Given the description of an element on the screen output the (x, y) to click on. 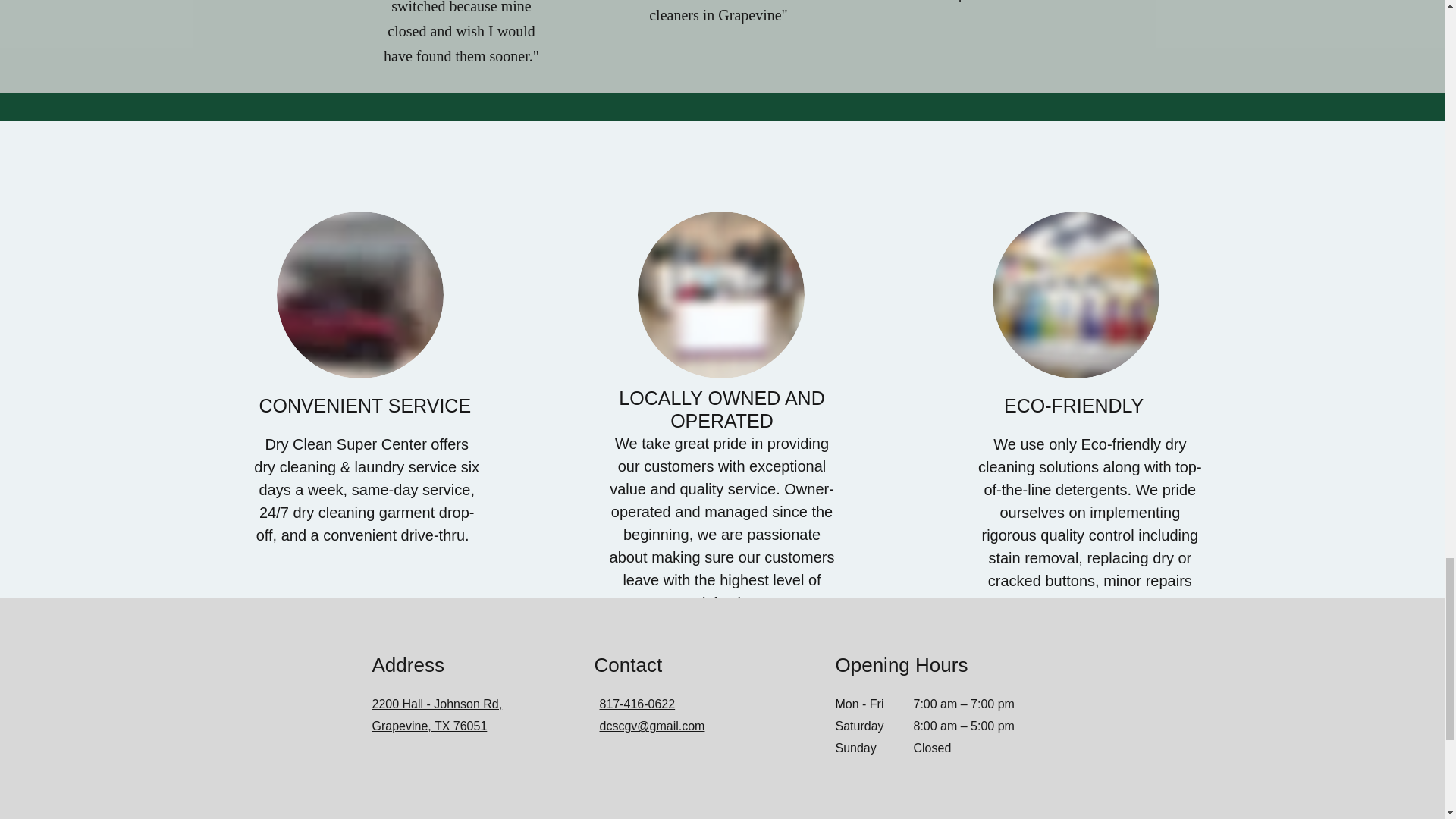
convenient drive-thru pick up and drop off service  (360, 294)
eco-friendly dry cleaning solution (1075, 294)
817-416-0622 (636, 703)
2200 Hall - Johnson Rd, Grapevine, TX 76051 (436, 714)
